Given the description of an element on the screen output the (x, y) to click on. 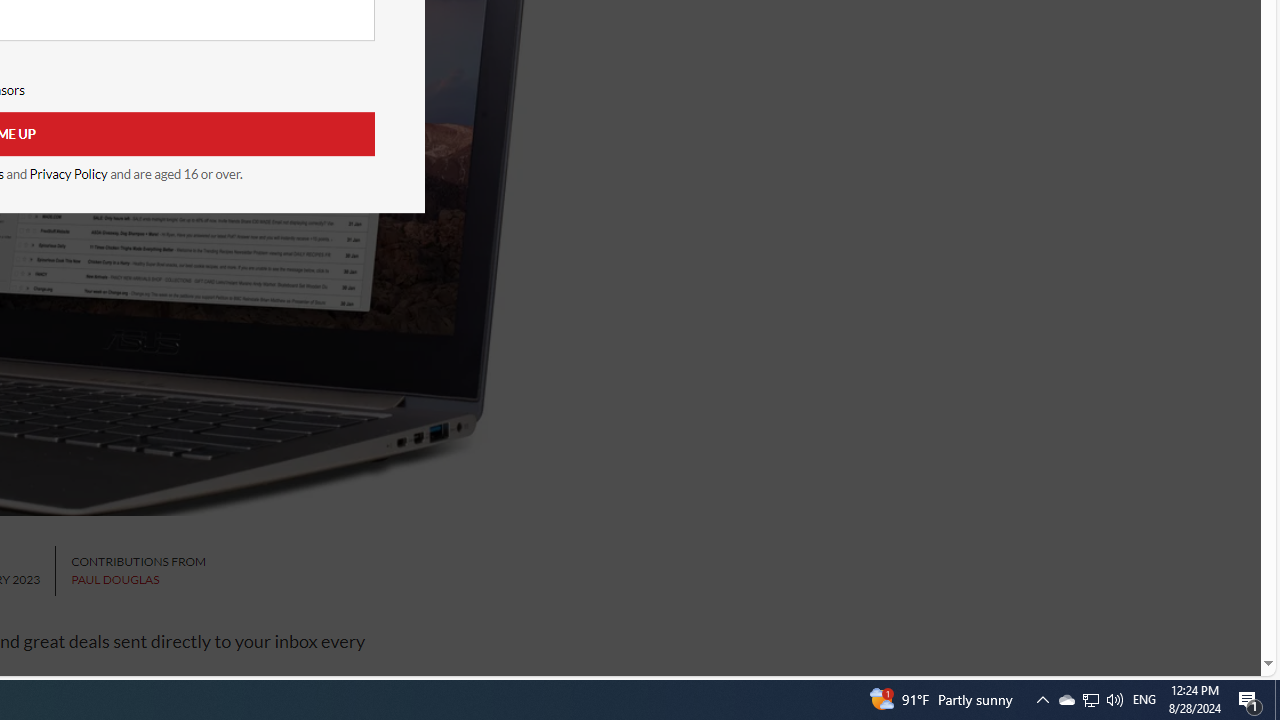
PAUL DOUGLAS (115, 579)
Privacy Policy (68, 174)
